Given the description of an element on the screen output the (x, y) to click on. 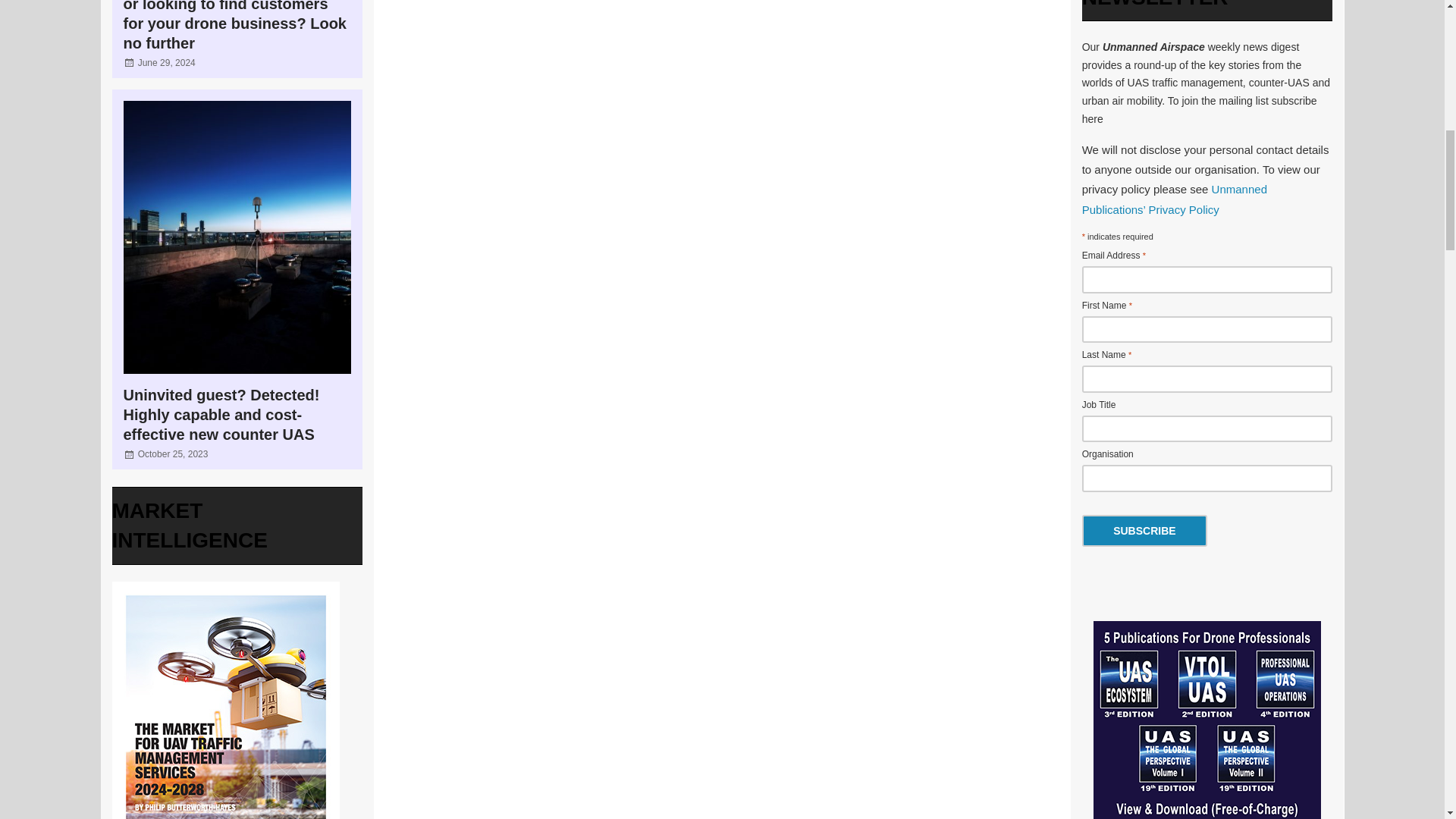
9:33 am (173, 453)
June 29, 2024 (166, 62)
11:31 am (166, 62)
Subscribe (1144, 531)
October 25, 2023 (173, 453)
